Given the description of an element on the screen output the (x, y) to click on. 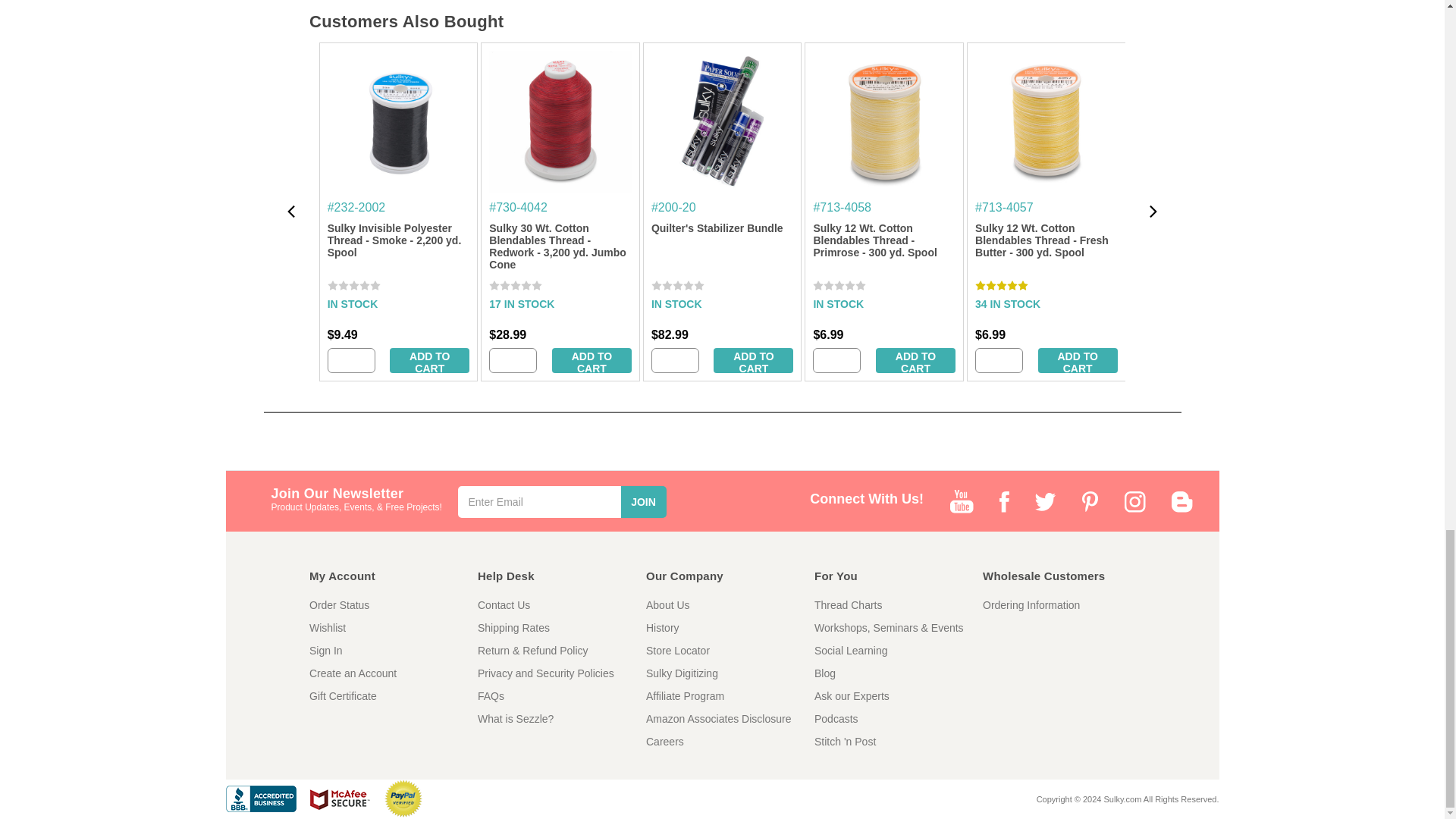
JOIN (642, 501)
